Given the description of an element on the screen output the (x, y) to click on. 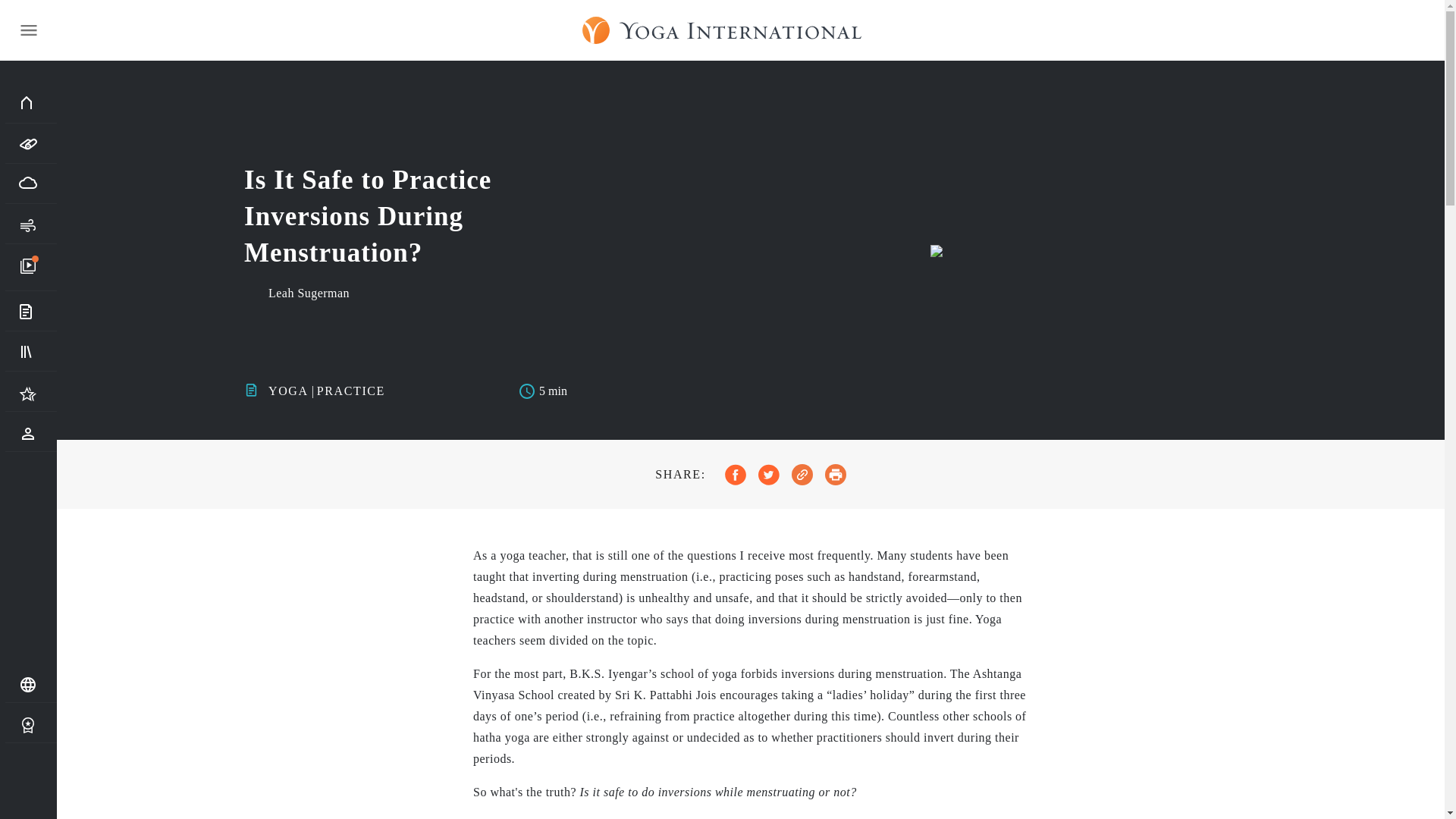
5 min (542, 391)
YOGA (287, 390)
Leah Sugerman (308, 292)
PRACTICE (351, 390)
